Given the description of an element on the screen output the (x, y) to click on. 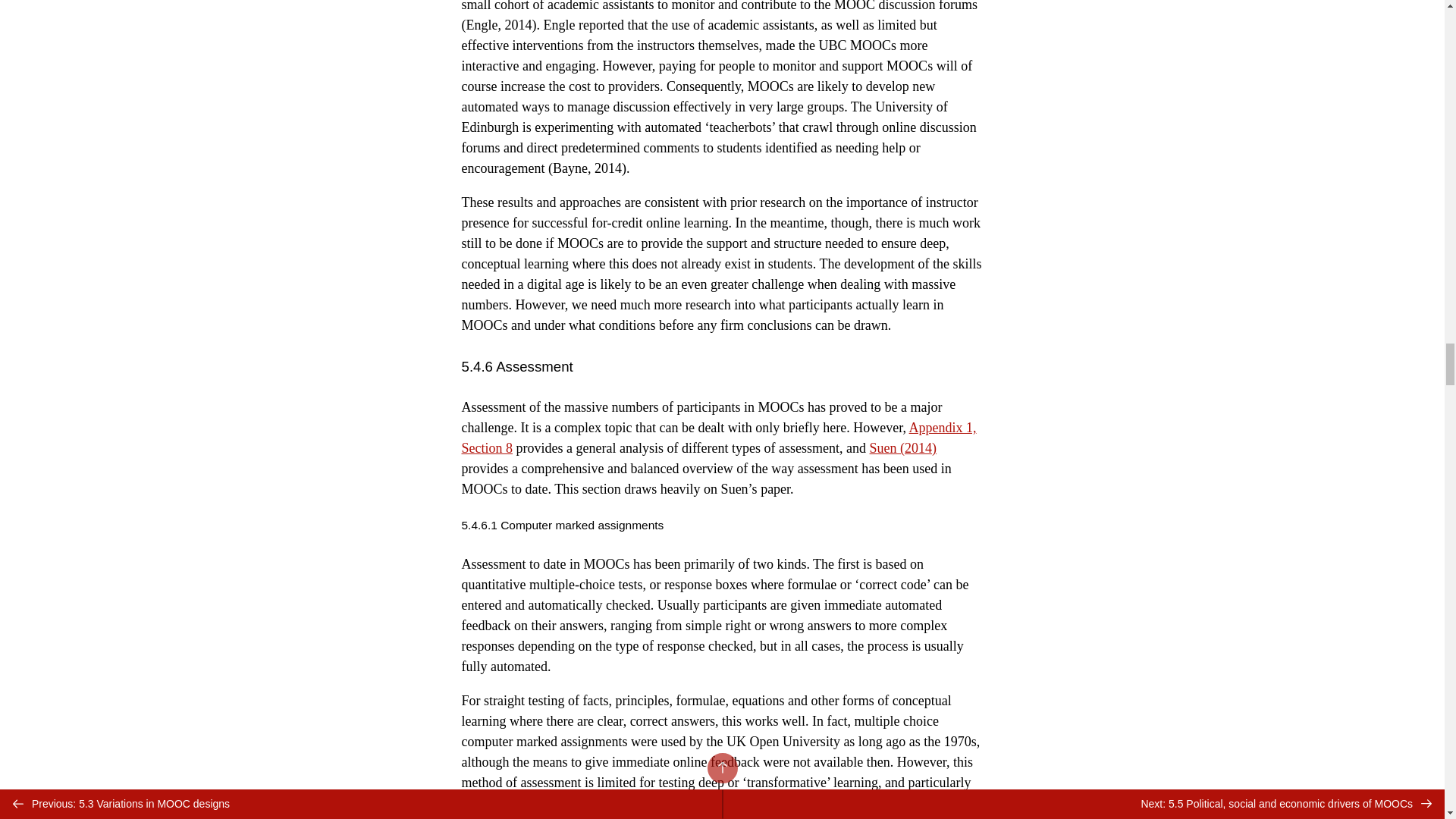
Appendix 1, Section 8 (718, 437)
